Given the description of an element on the screen output the (x, y) to click on. 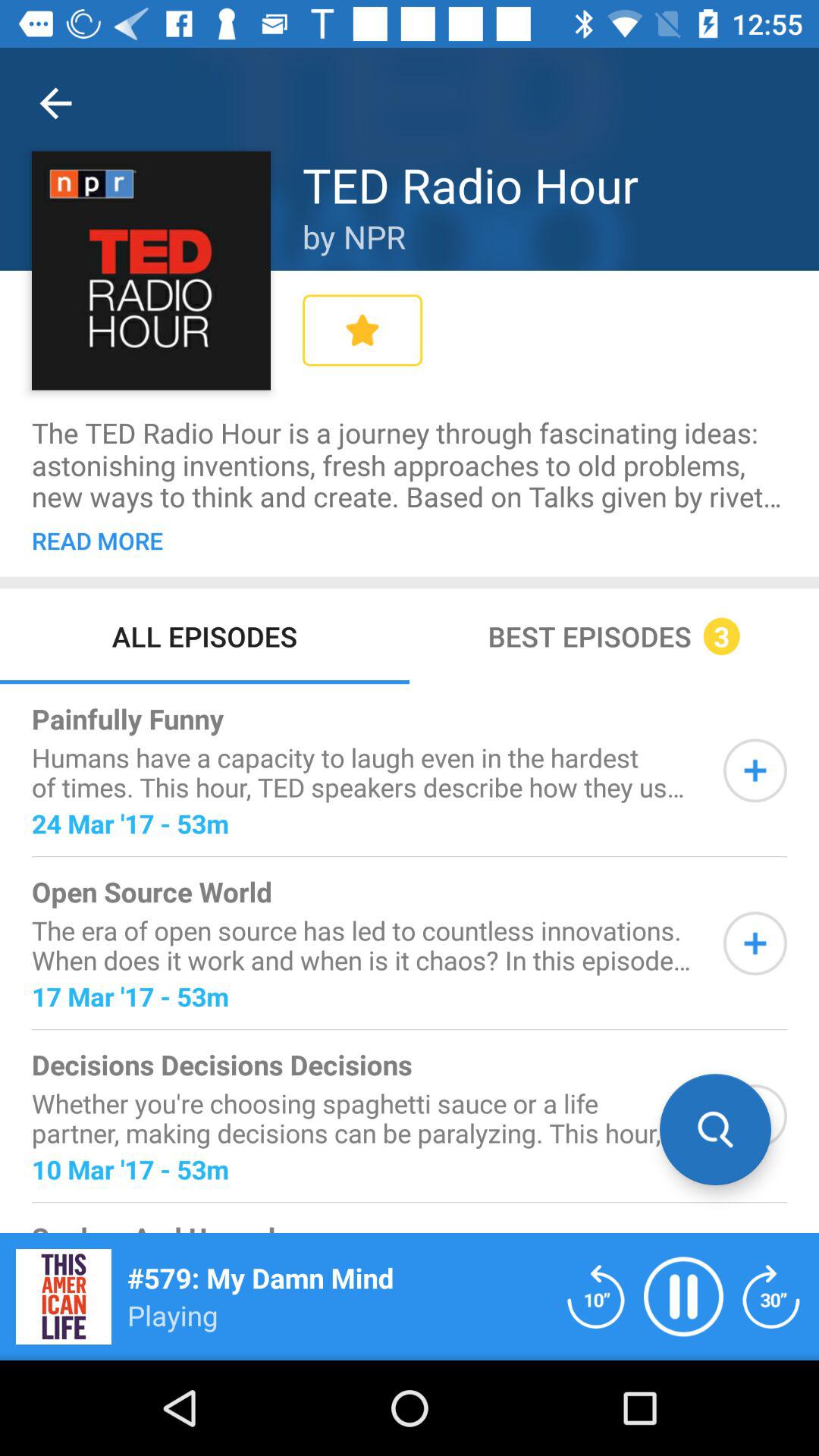
add more (755, 943)
